Given the description of an element on the screen output the (x, y) to click on. 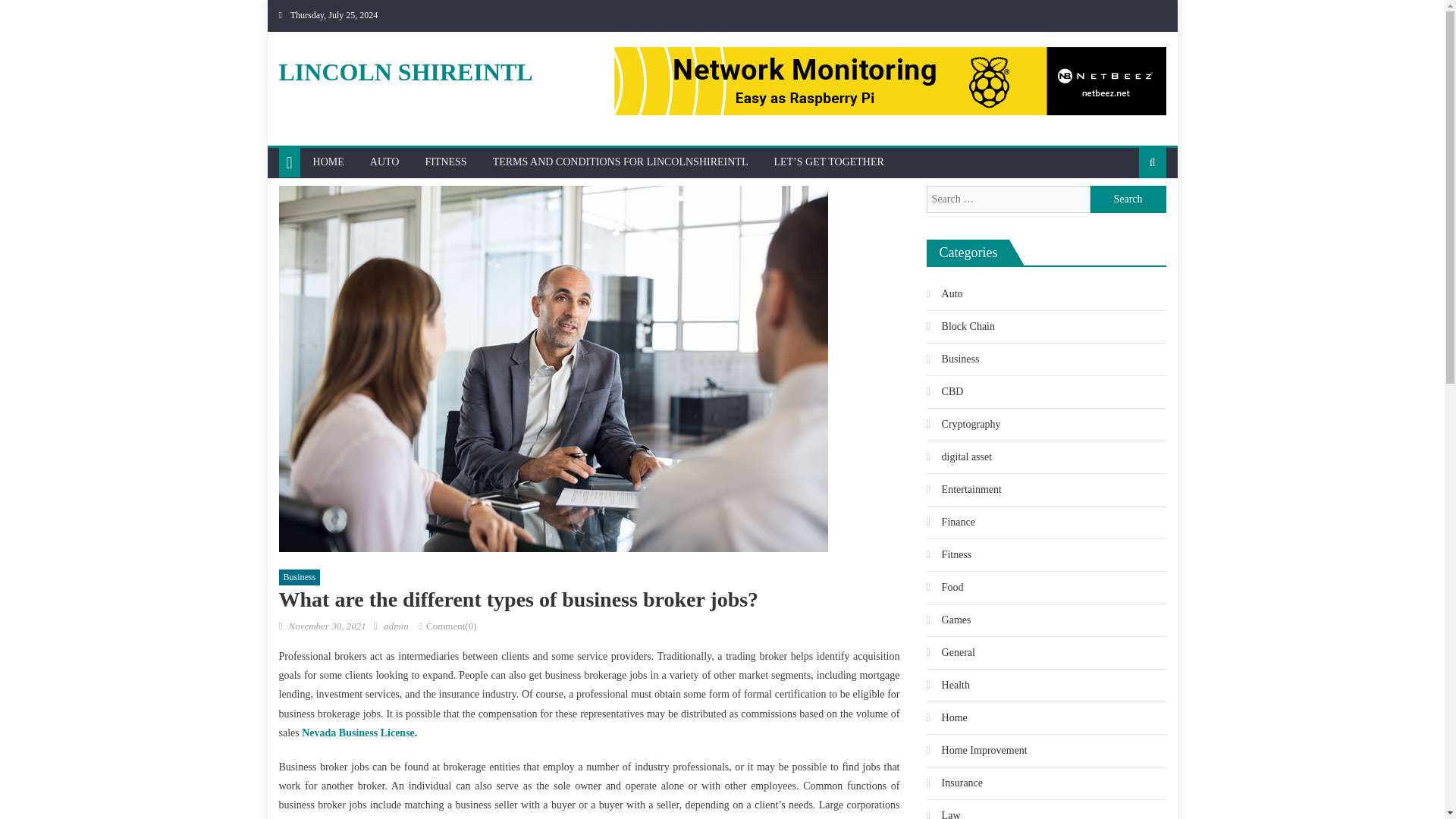
Auto (944, 293)
HOME (328, 162)
LINCOLN SHIREINTL (405, 71)
Search (1128, 198)
Block Chain (960, 326)
FITNESS (445, 162)
AUTO (384, 162)
Business (299, 577)
Search (1128, 198)
November 30, 2021 (326, 625)
Search (1128, 211)
admin (396, 625)
Business (952, 359)
TERMS AND CONDITIONS FOR LINCOLNSHIREINTL (620, 162)
Search (1128, 198)
